Given the description of an element on the screen output the (x, y) to click on. 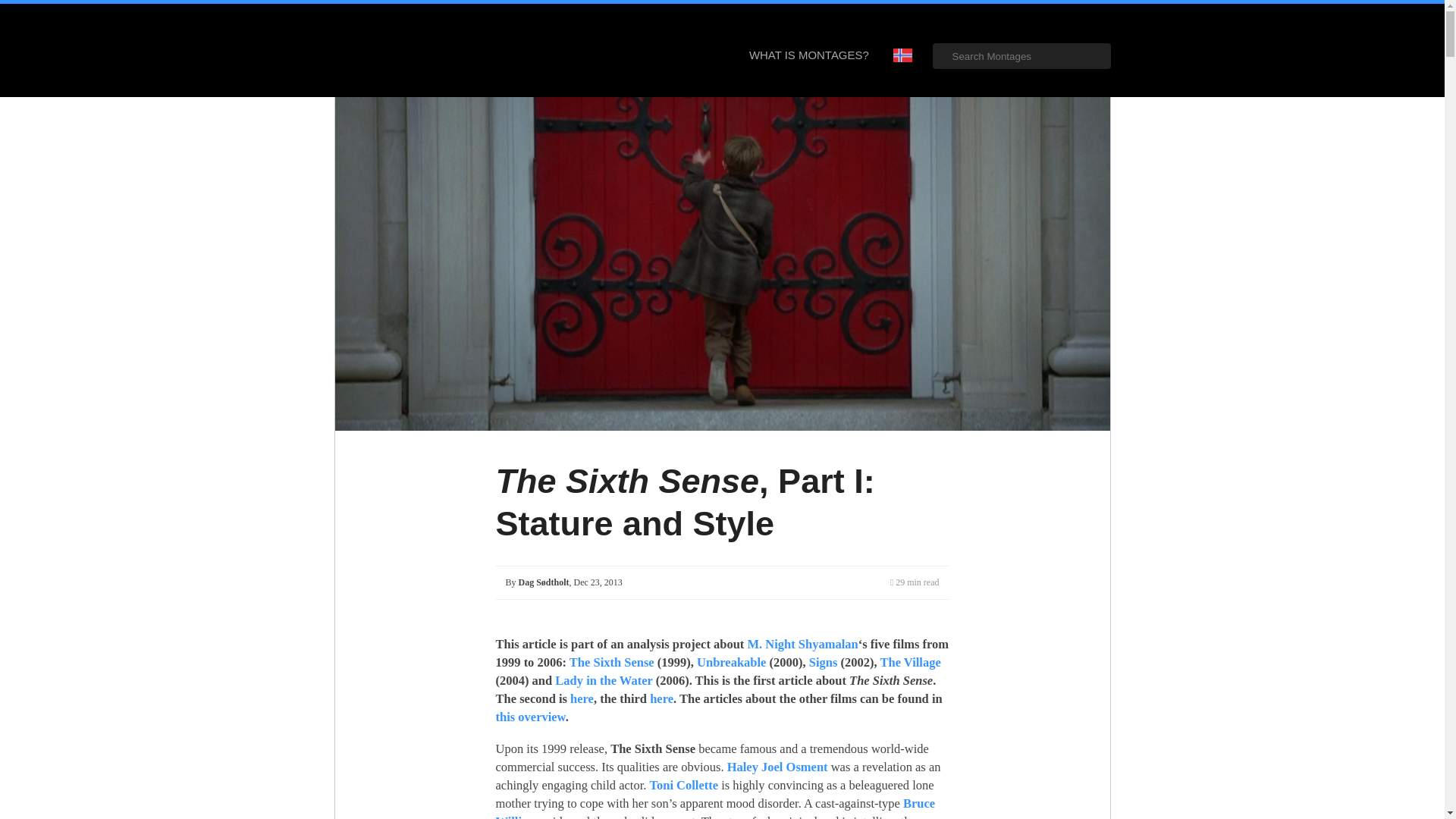
Lady in the Water (603, 680)
The Sixth Sense (611, 662)
here (660, 698)
Til forsiden (419, 50)
here (582, 698)
Haley Joel Osment (777, 766)
WHAT IS MONTAGES? (808, 55)
The Village (910, 662)
About us (808, 55)
Signs (825, 662)
